Given the description of an element on the screen output the (x, y) to click on. 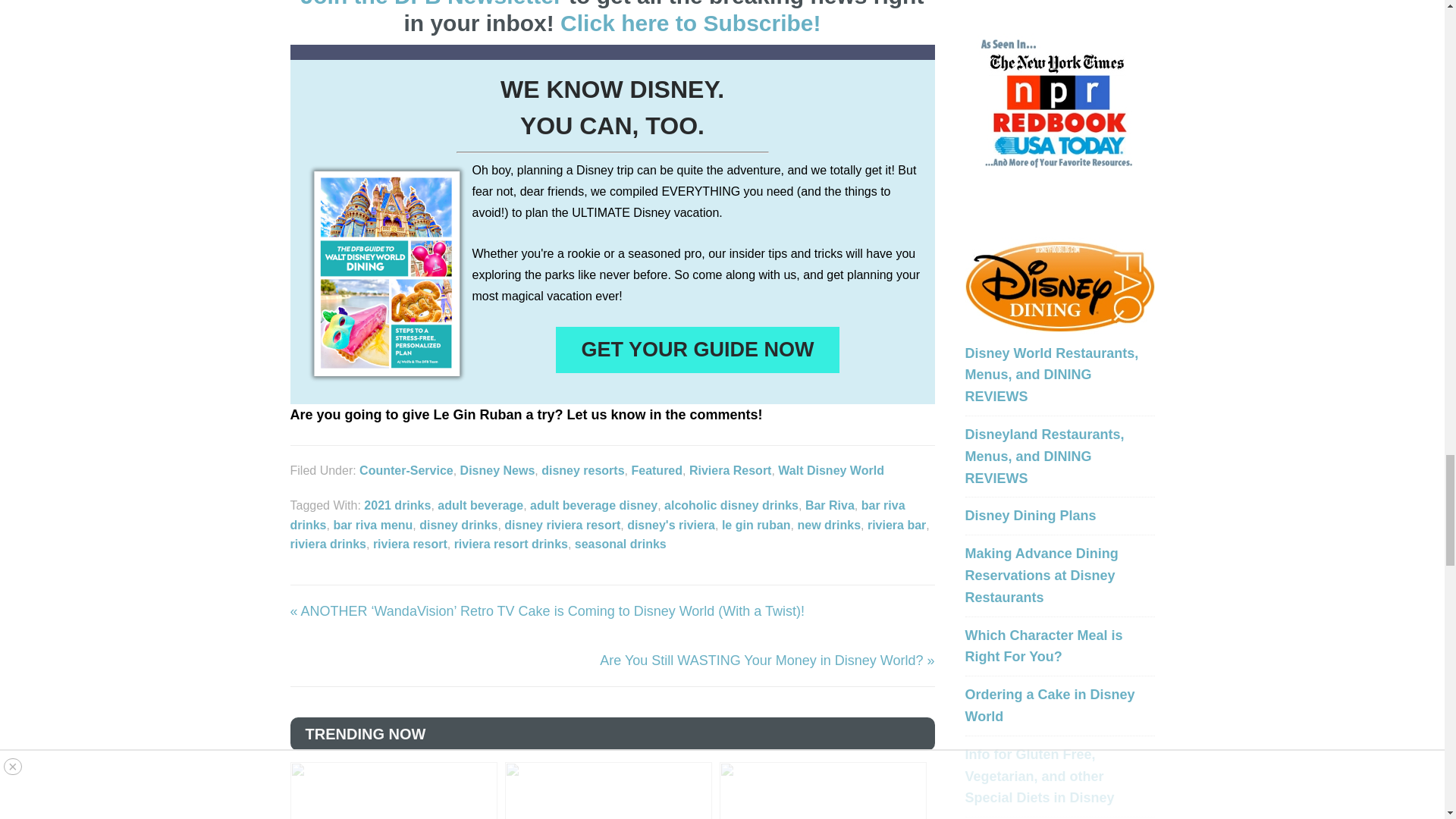
asseeninsmall (1059, 101)
